Given the description of an element on the screen output the (x, y) to click on. 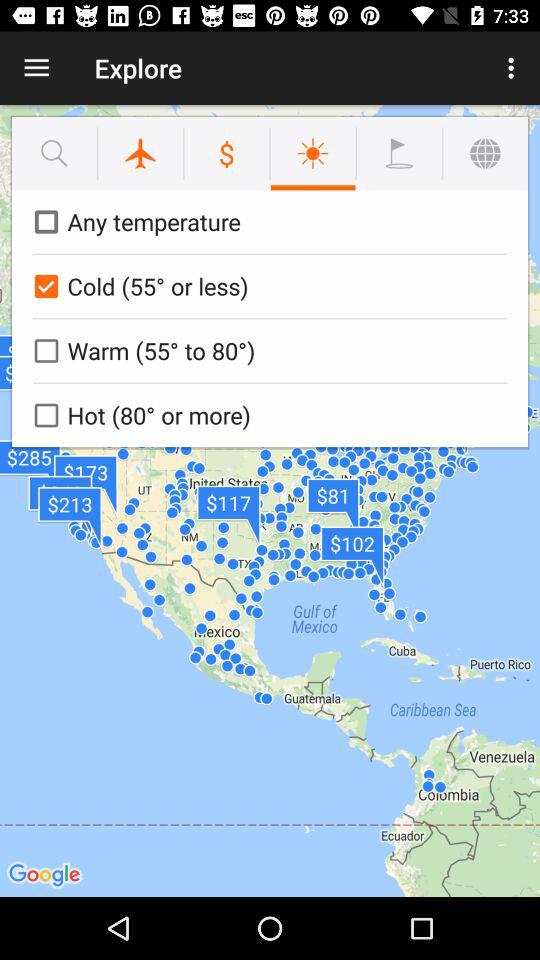
select hot 80 or icon (266, 415)
